Given the description of an element on the screen output the (x, y) to click on. 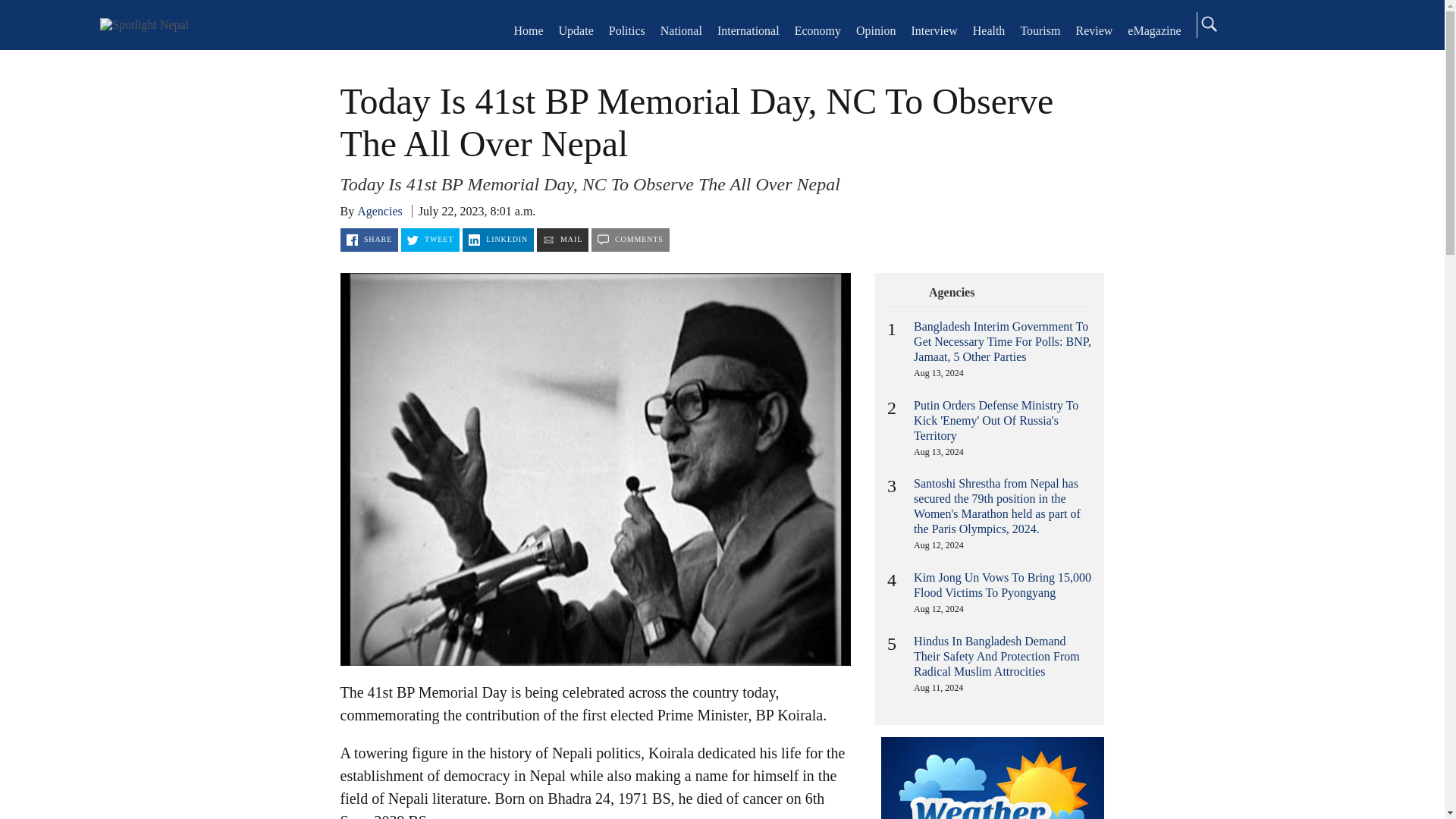
Health (989, 30)
LINKEDIN (498, 239)
Update (576, 30)
MAIL (563, 239)
Agencies (951, 292)
Email (563, 239)
International (747, 30)
Agencies (379, 210)
Interview (933, 30)
Politics (626, 30)
